Given the description of an element on the screen output the (x, y) to click on. 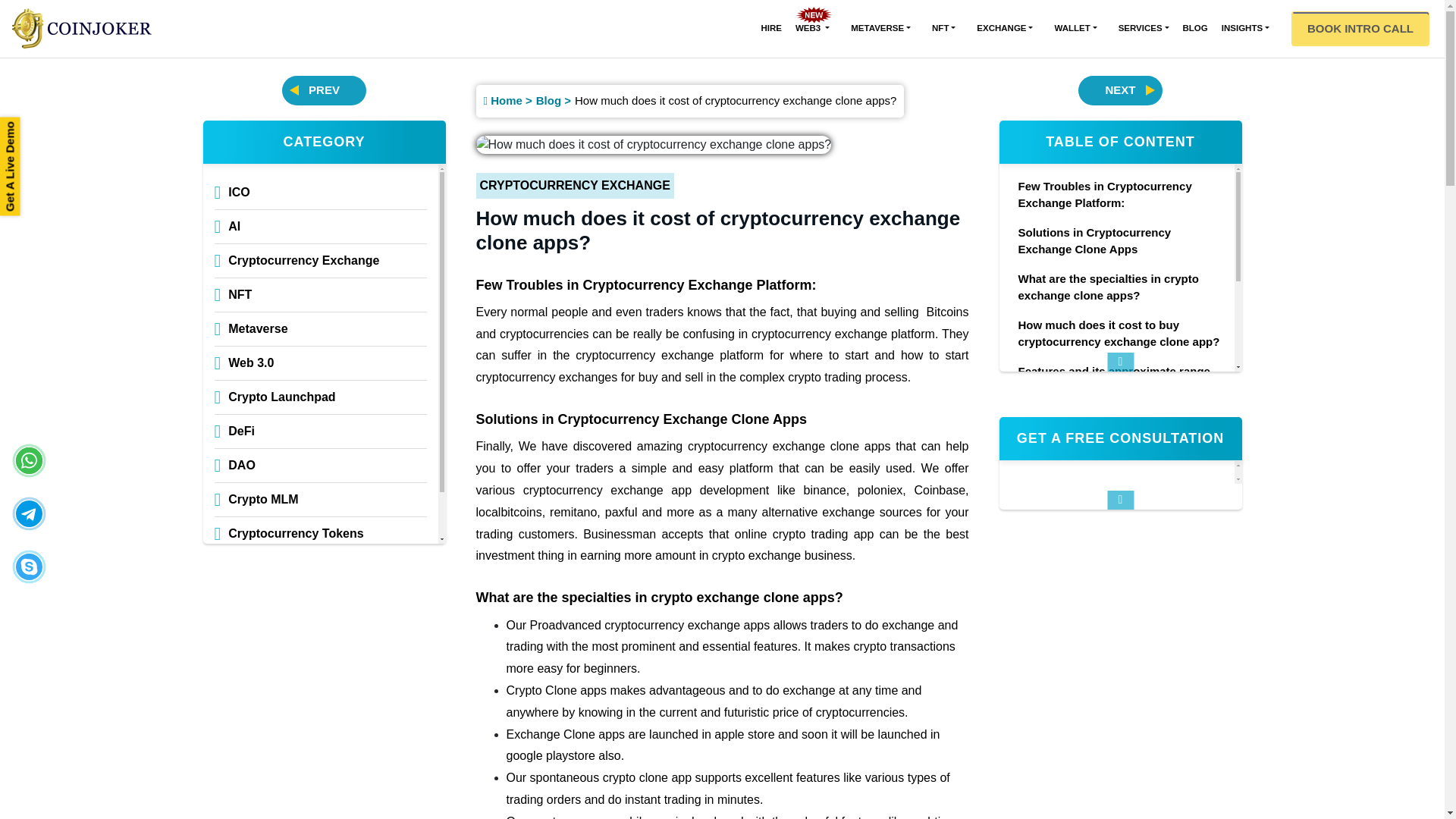
How much does it cost of cryptocurrency exchange clone apps? (653, 144)
Whatsapp (29, 460)
Telegram (29, 513)
Skype (29, 566)
HIRE (770, 27)
Cryptocurrency Exchange Development Company (81, 28)
